Given the description of an element on the screen output the (x, y) to click on. 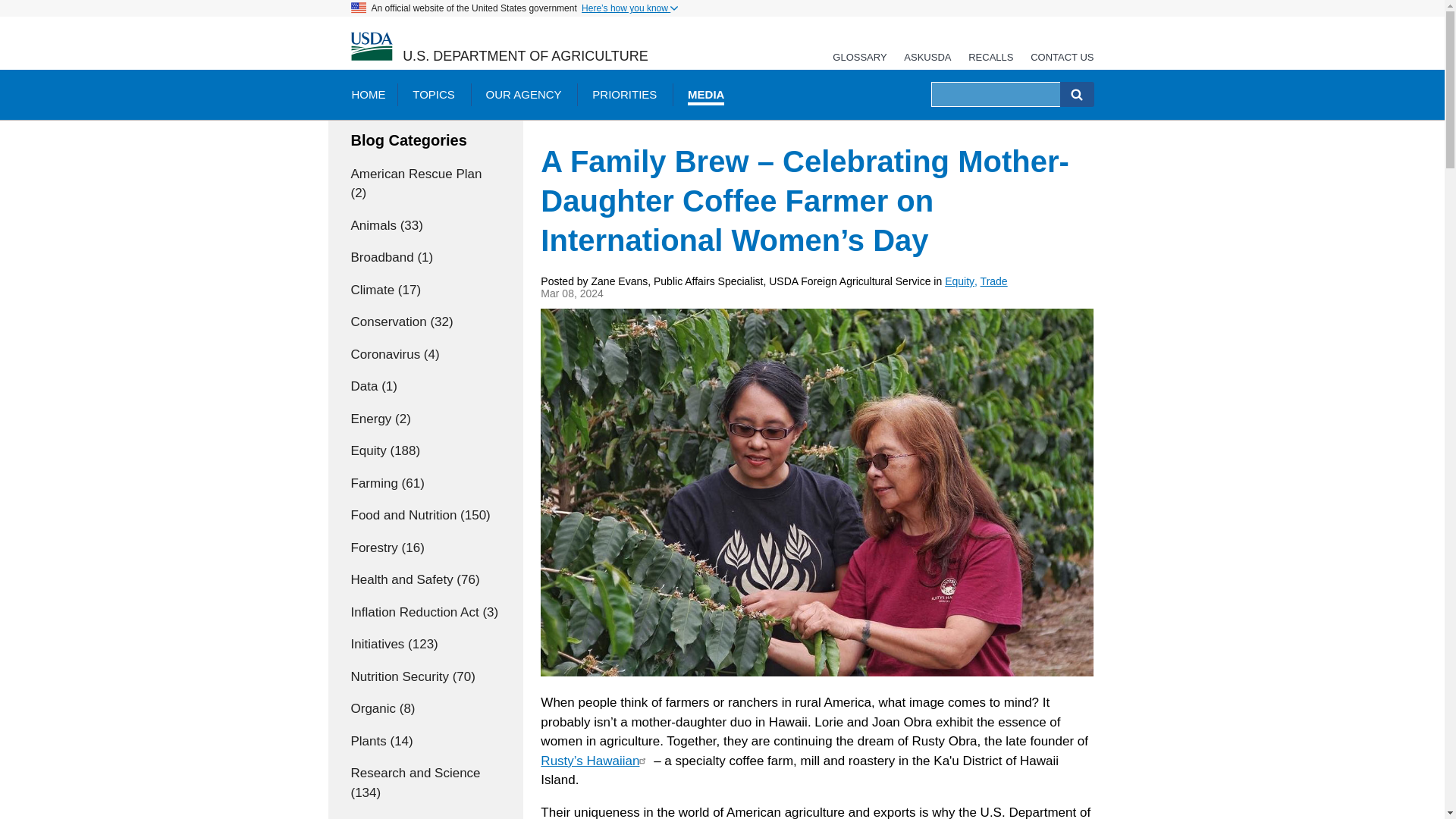
Home (525, 55)
TOPICS (433, 94)
U.S. DEPARTMENT OF AGRICULTURE (525, 55)
OUR AGENCY (523, 94)
PRIORITIES (623, 94)
HOME (367, 94)
Home (370, 46)
